Given the description of an element on the screen output the (x, y) to click on. 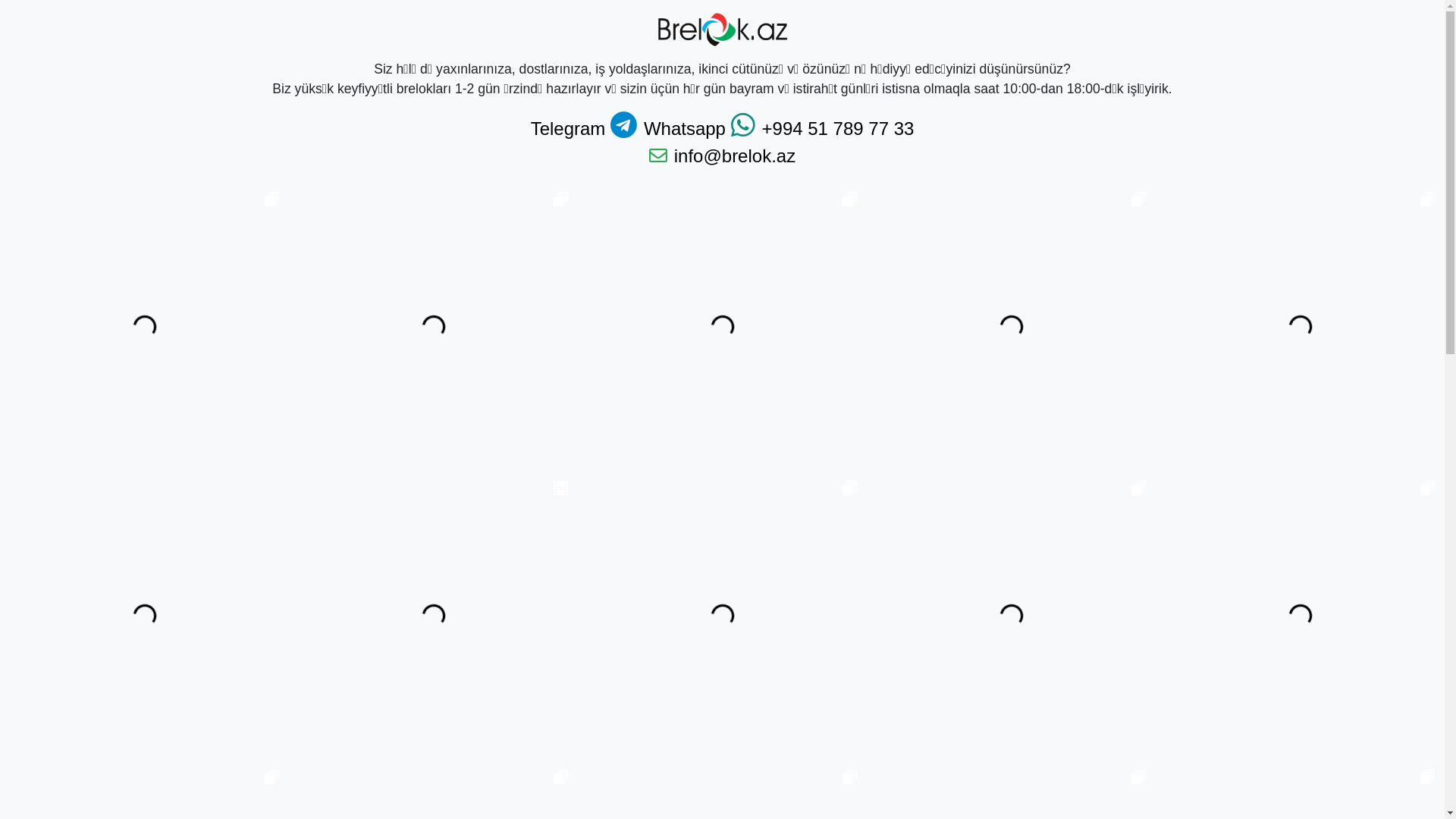
Whatsapp Element type: text (699, 128)
info@brelok.az Element type: text (734, 155)
Telegram Element type: text (583, 128)
+994 51 789 77 33 Element type: text (838, 128)
